Given the description of an element on the screen output the (x, y) to click on. 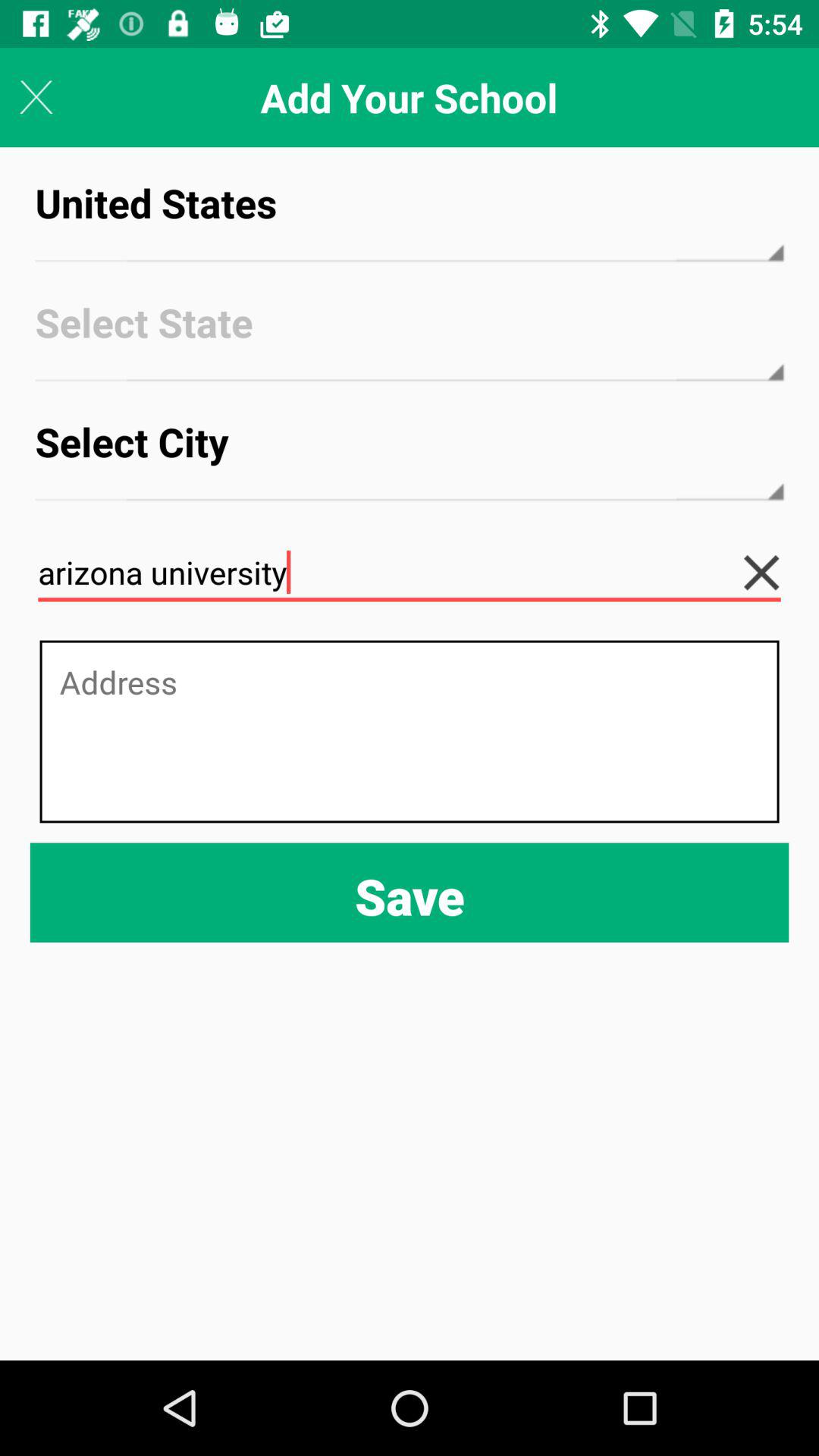
delete current typing (773, 572)
